Given the description of an element on the screen output the (x, y) to click on. 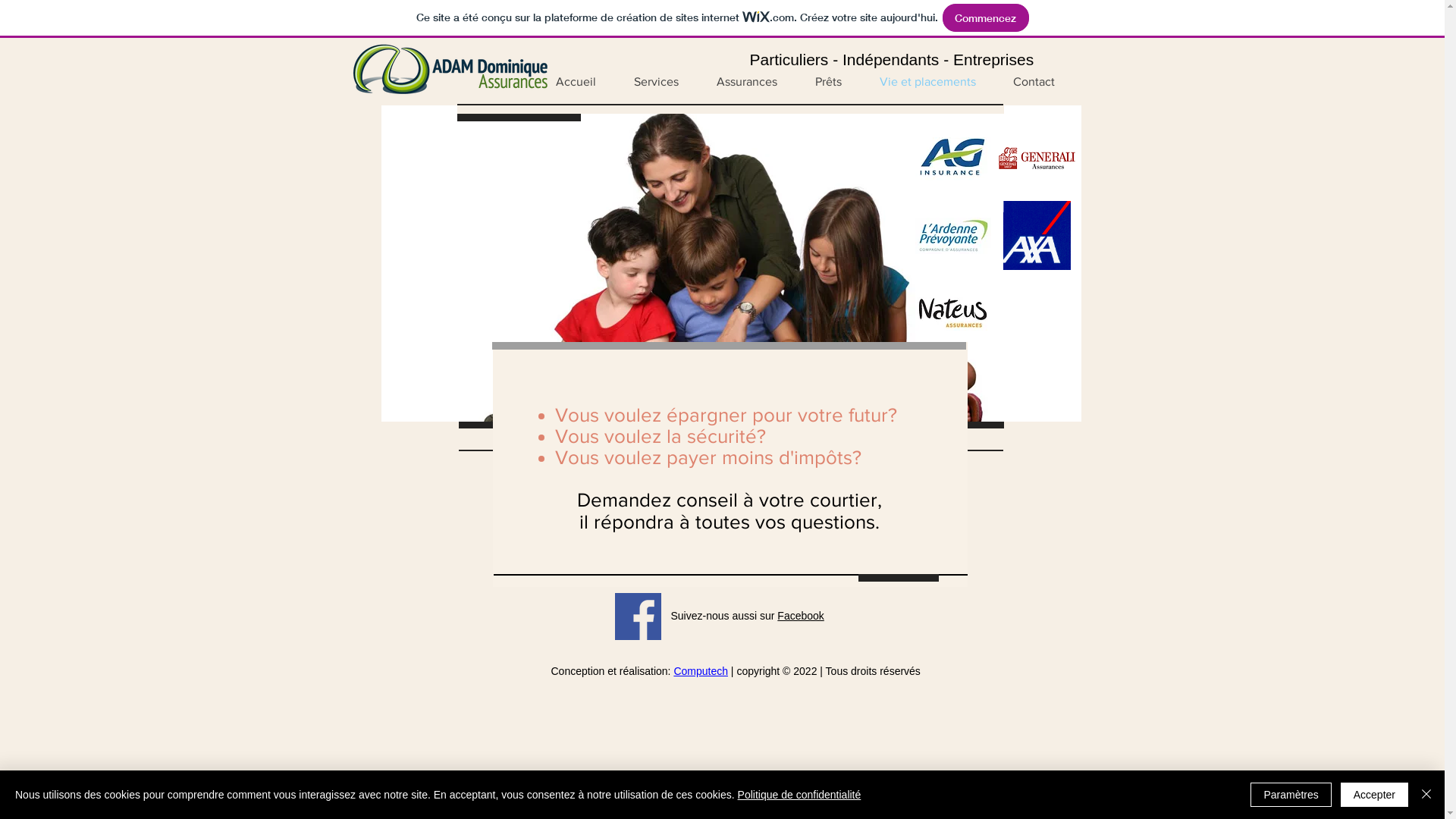
Computech Element type: text (700, 671)
Assurances Element type: text (746, 81)
Services Element type: text (655, 81)
Accueil Element type: text (575, 81)
img_6278_a Element type: hover (730, 263)
Vie et placements Element type: text (926, 81)
Contact Element type: text (1033, 81)
Facebook Element type: text (800, 615)
Accepter Element type: text (1374, 794)
